Given the description of an element on the screen output the (x, y) to click on. 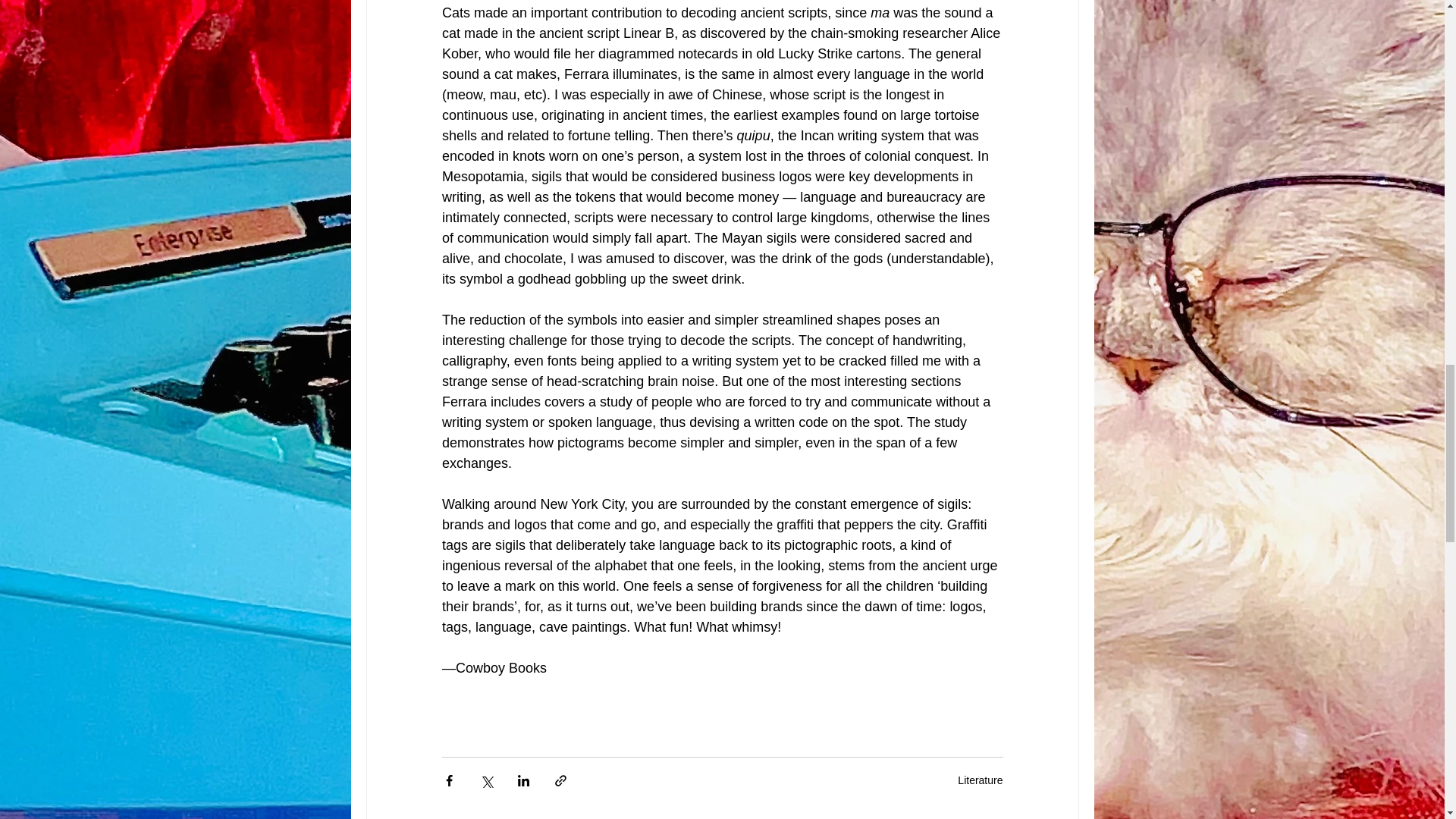
Literature (980, 779)
